Given the description of an element on the screen output the (x, y) to click on. 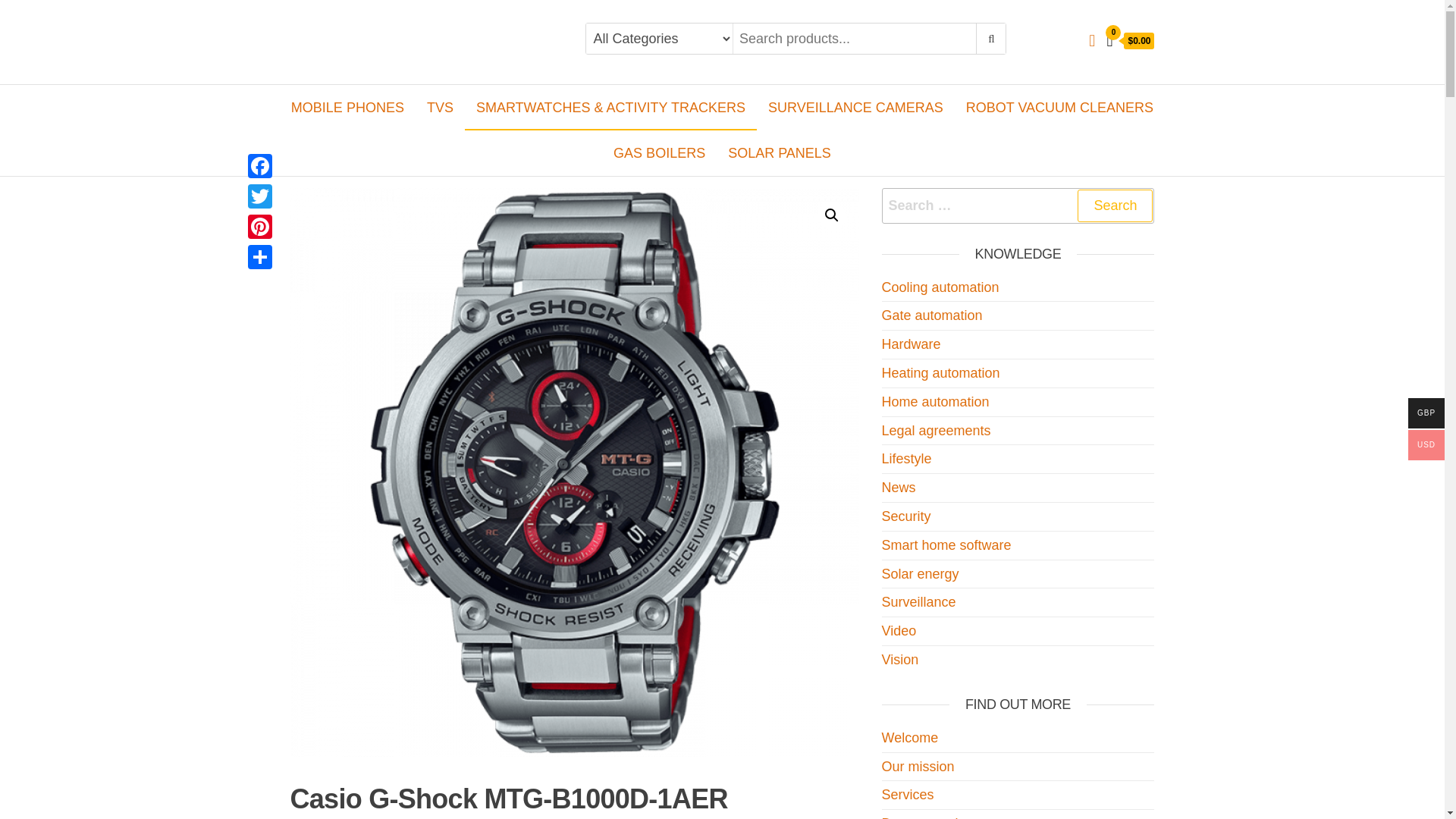
Search (1115, 205)
TVs (439, 107)
SOLAR PANELS (779, 153)
SURVEILLANCE CAMERAS (856, 107)
Surveillance Cameras (856, 107)
Robot Vacuum Cleaners (1059, 107)
Gas Boilers (659, 153)
GAS BOILERS (659, 153)
ROBOT VACUUM CLEANERS (1059, 107)
